Given the description of an element on the screen output the (x, y) to click on. 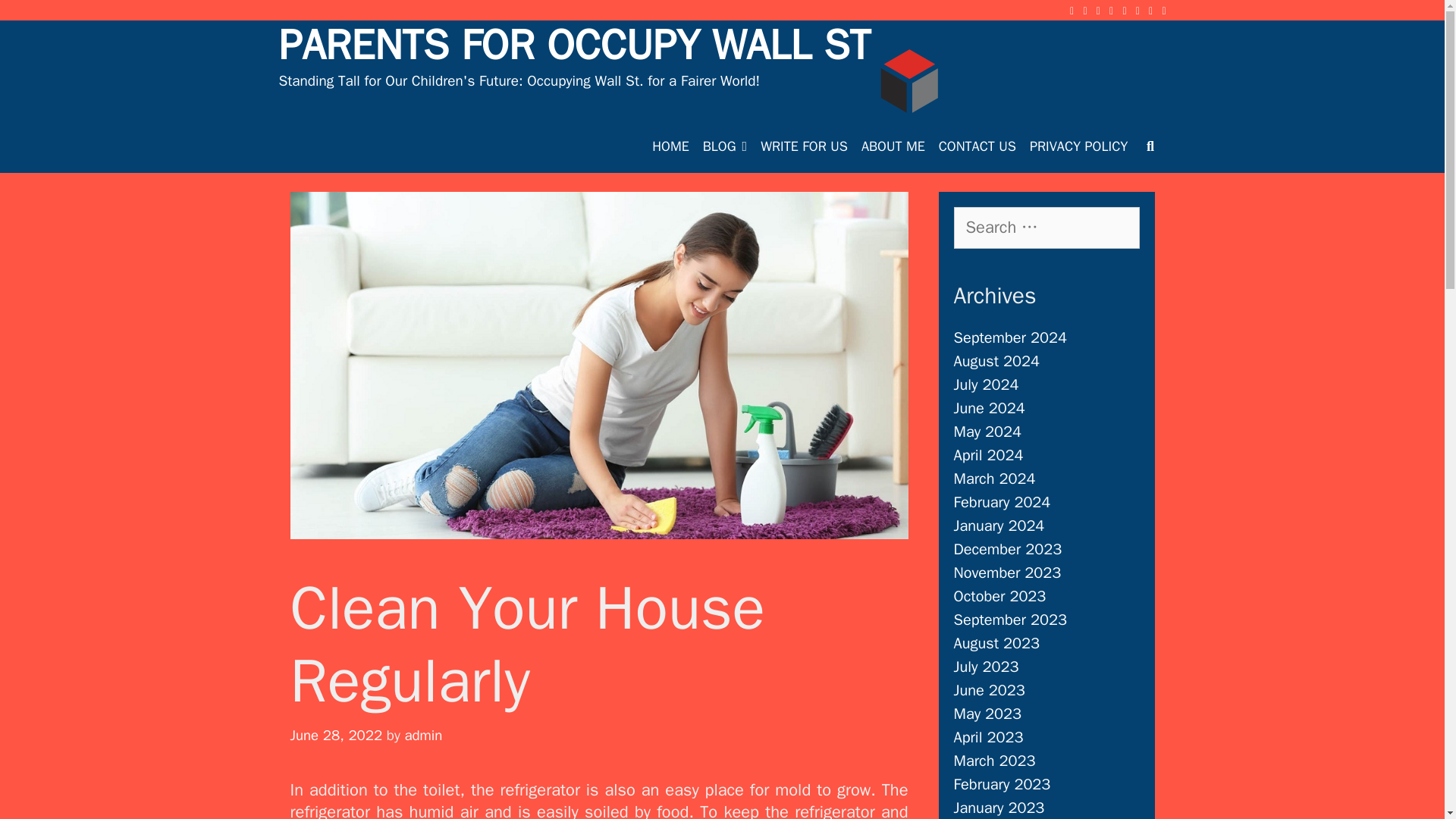
Search (259, 26)
Search (37, 19)
June 28, 2022 (335, 735)
July 2024 (986, 384)
Parents For Occupy Wall St (908, 81)
Parents For Occupy Wall St (908, 79)
CONTACT US (977, 145)
ABOUT ME (892, 145)
Search for: (1046, 227)
View all posts by admin (423, 735)
